Given the description of an element on the screen output the (x, y) to click on. 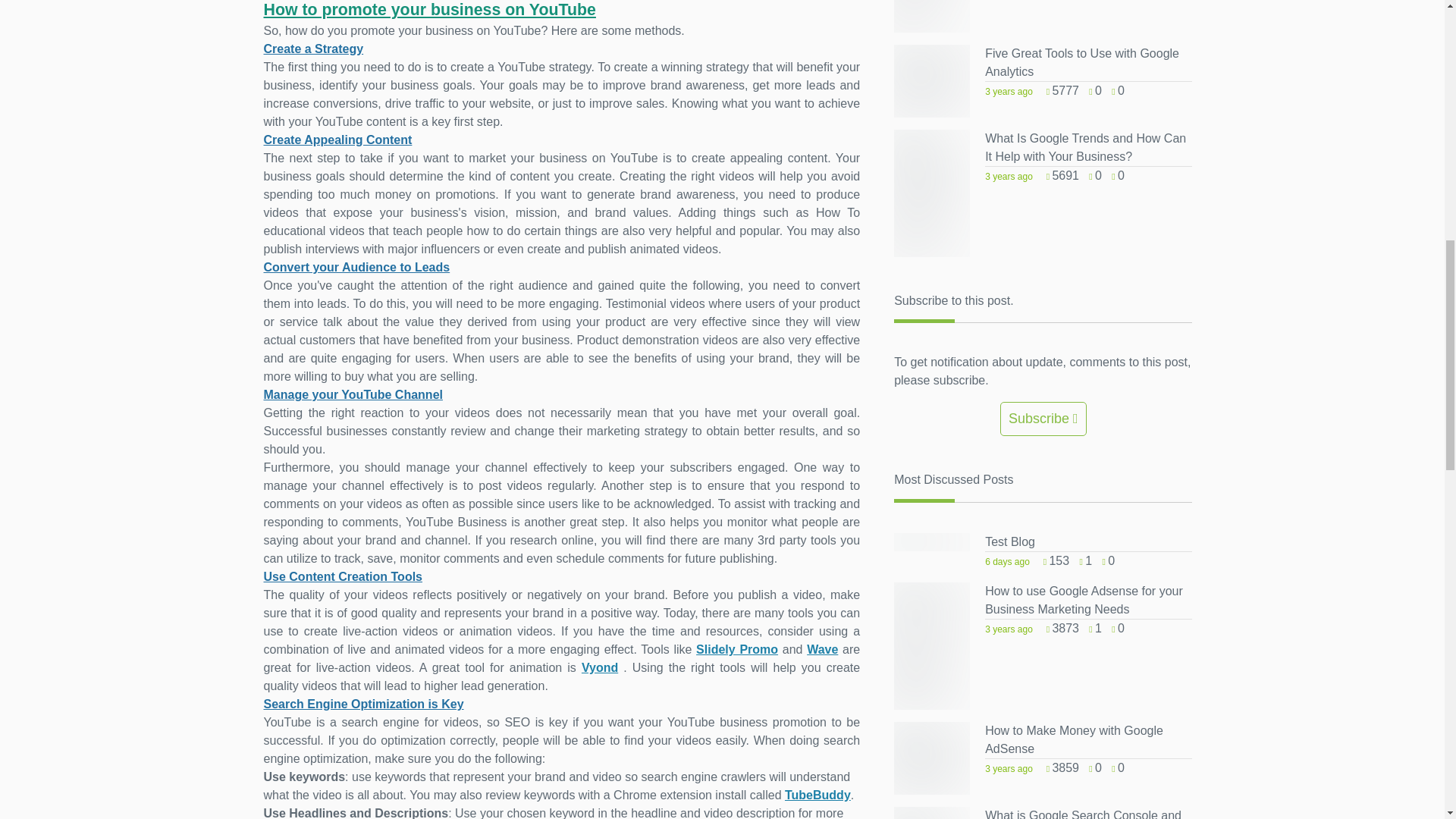
Slidely Promo (736, 649)
Wave (822, 649)
Vyond (598, 667)
TubeBuddy (817, 794)
